Given the description of an element on the screen output the (x, y) to click on. 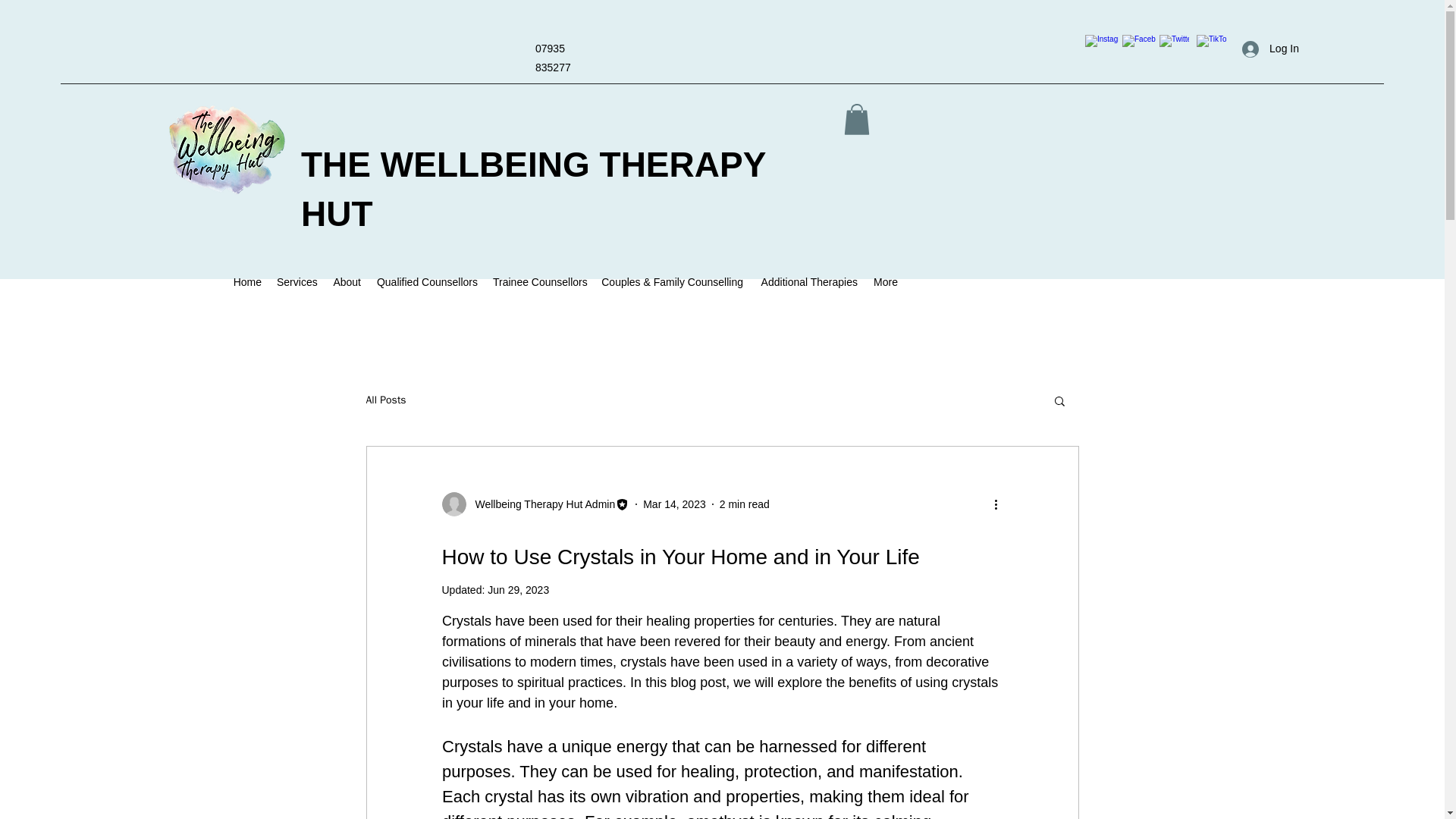
About (345, 282)
Mar 14, 2023 (674, 503)
Jun 29, 2023 (517, 589)
THE WELLBEING THERAPY HUT (533, 188)
Qualified Counsellors (426, 282)
Wellbeing Therapy Hut Admin (534, 504)
Log In (1269, 49)
Home (247, 282)
2 min read (744, 503)
Services (296, 282)
